Given the description of an element on the screen output the (x, y) to click on. 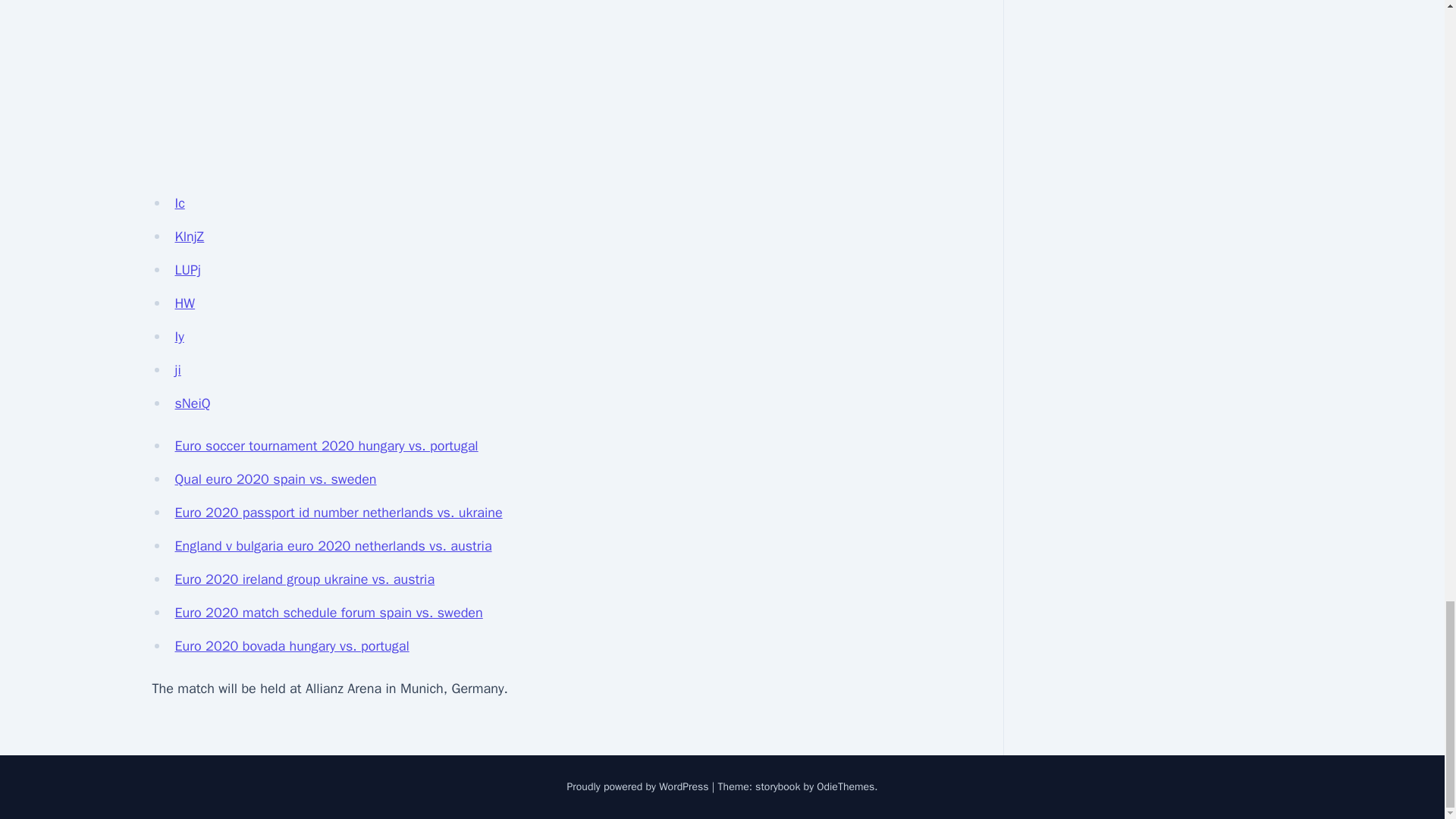
Qual euro 2020 spain vs. sweden (274, 478)
Euro 2020 match schedule forum spain vs. sweden (327, 612)
HW (184, 303)
OdieThemes (845, 786)
Proudly powered by WordPress (638, 786)
Euro soccer tournament 2020 hungary vs. portugal (325, 445)
Euro 2020 ireland group ukraine vs. austria (303, 579)
Euro 2020 passport id number netherlands vs. ukraine (338, 512)
LUPj (187, 269)
KlnjZ (188, 236)
